Given the description of an element on the screen output the (x, y) to click on. 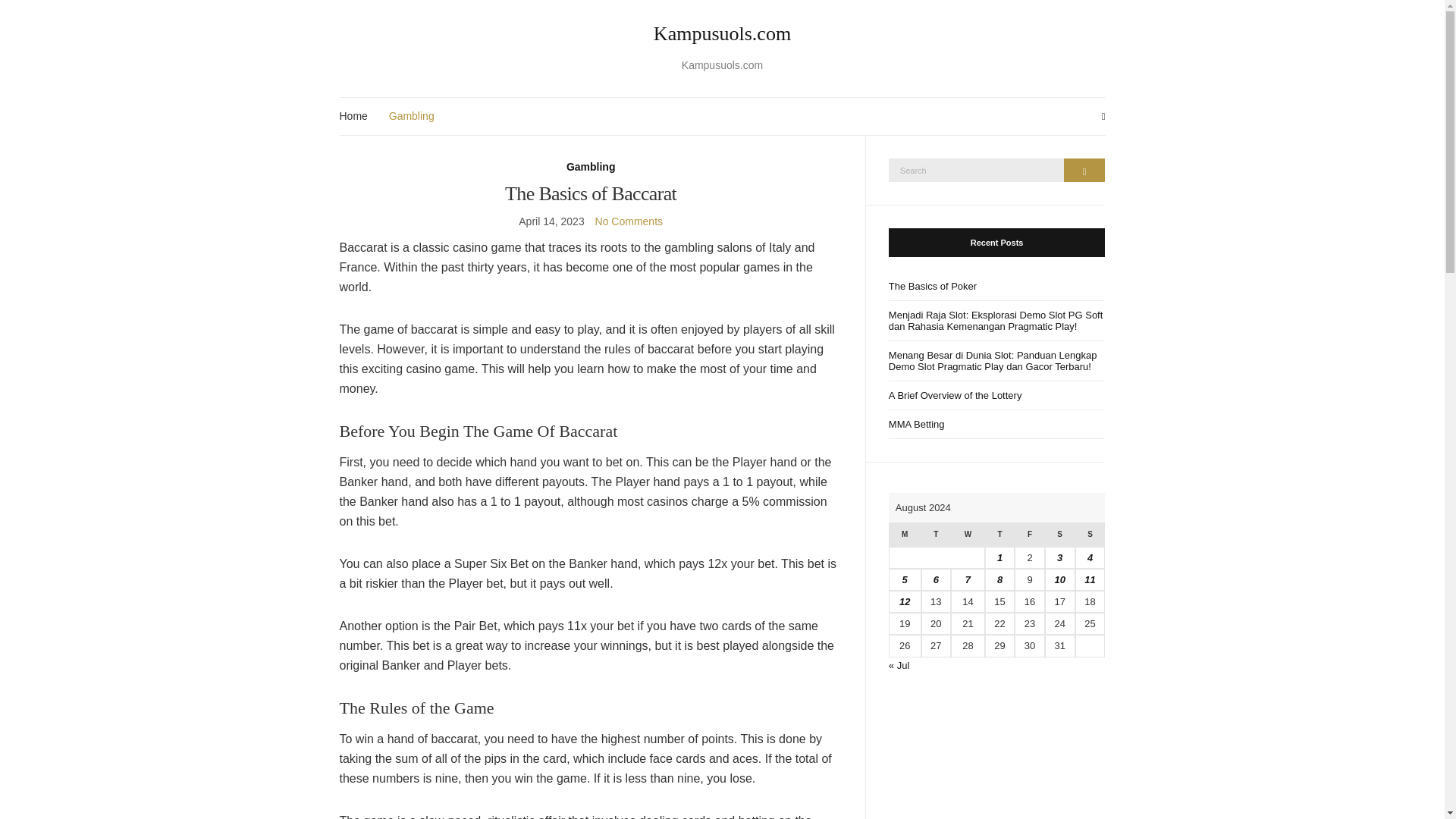
Thursday (999, 534)
Sunday (1090, 534)
Saturday (1060, 534)
Tuesday (935, 534)
10 (1059, 579)
Friday (1028, 534)
Wednesday (967, 534)
Kampusuols.com (722, 33)
Search (1084, 169)
